Given the description of an element on the screen output the (x, y) to click on. 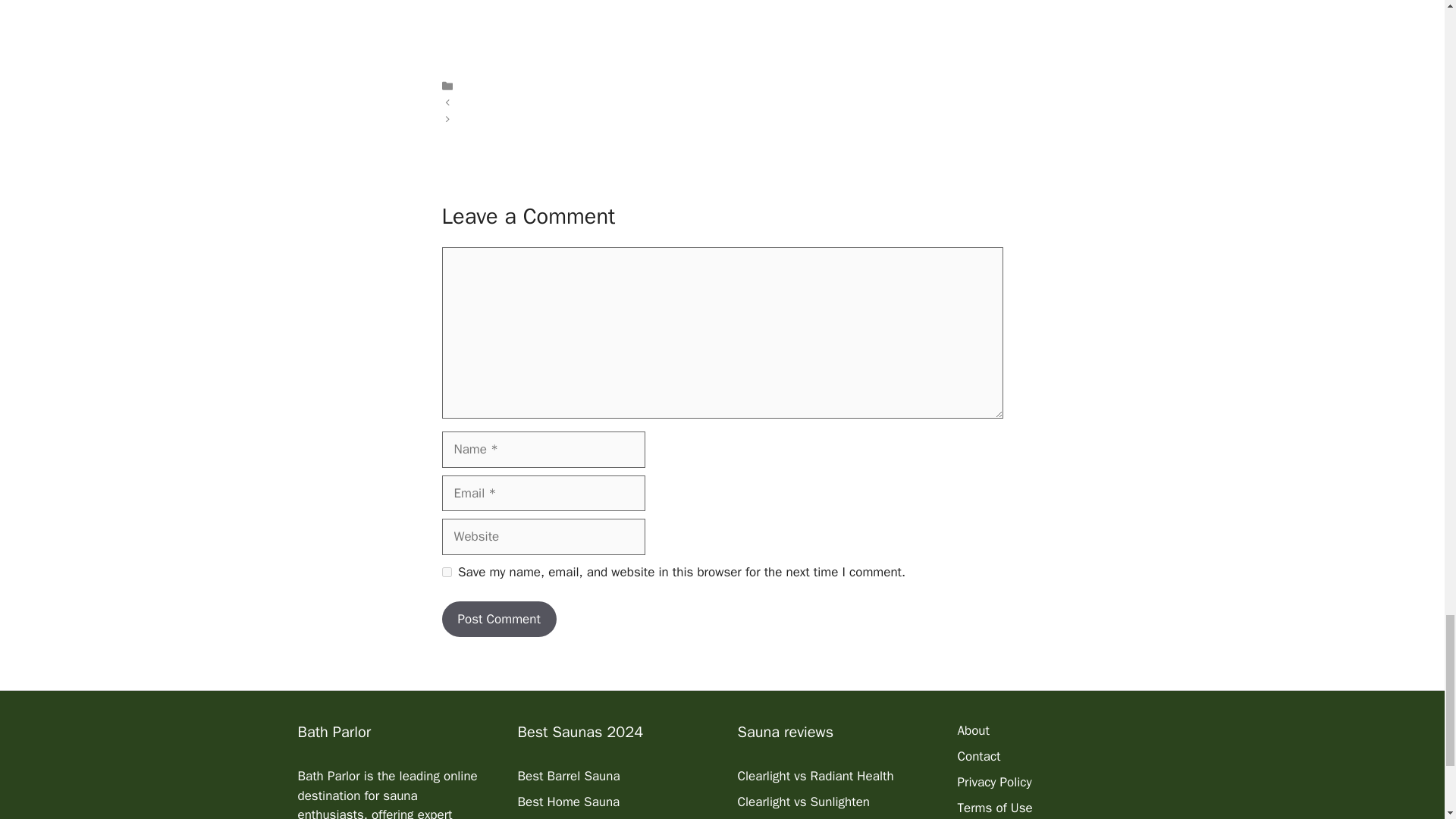
Post Comment (498, 619)
yes (446, 572)
